Given the description of an element on the screen output the (x, y) to click on. 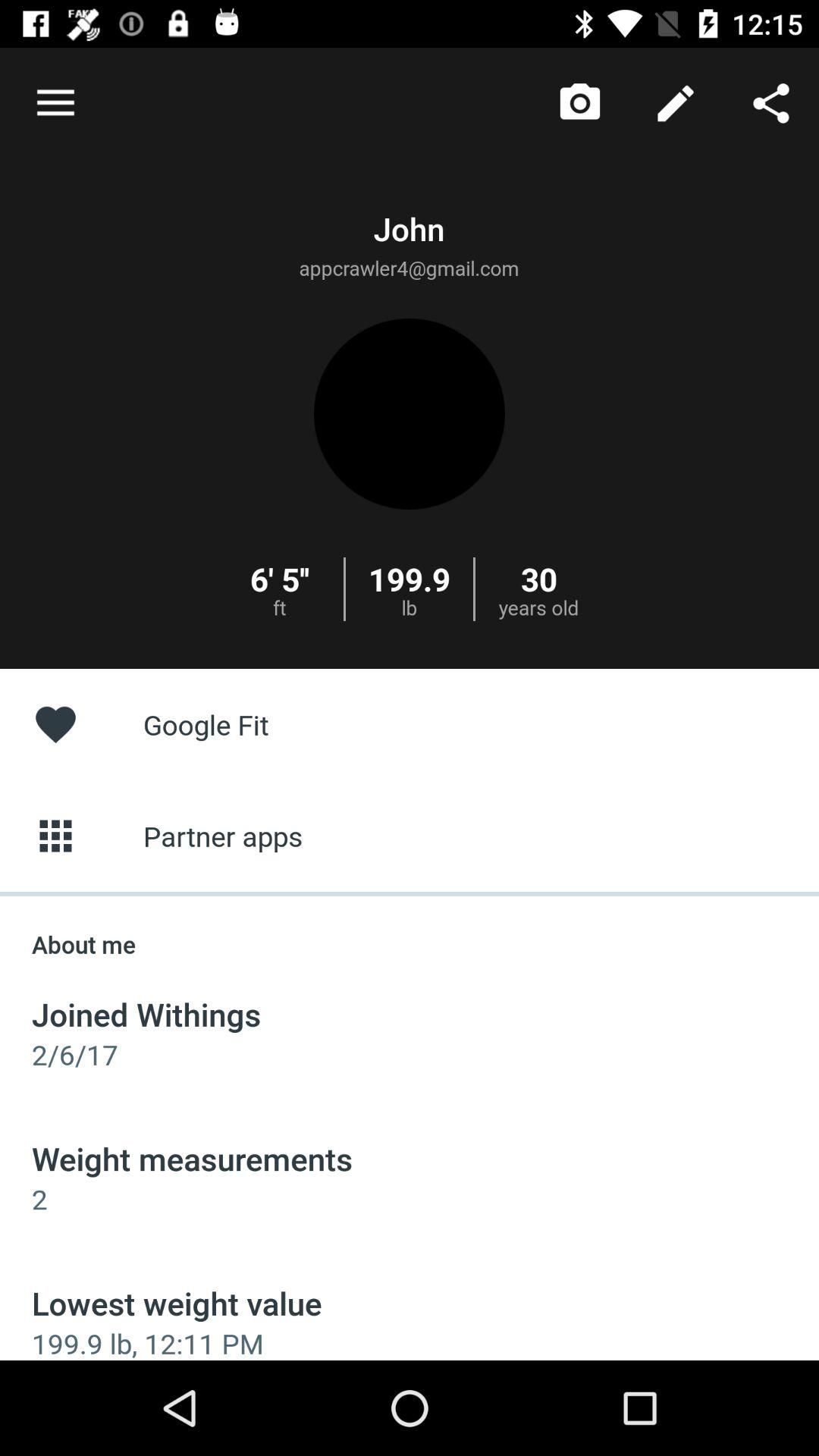
press the icon above the partner apps icon (409, 724)
